Given the description of an element on the screen output the (x, y) to click on. 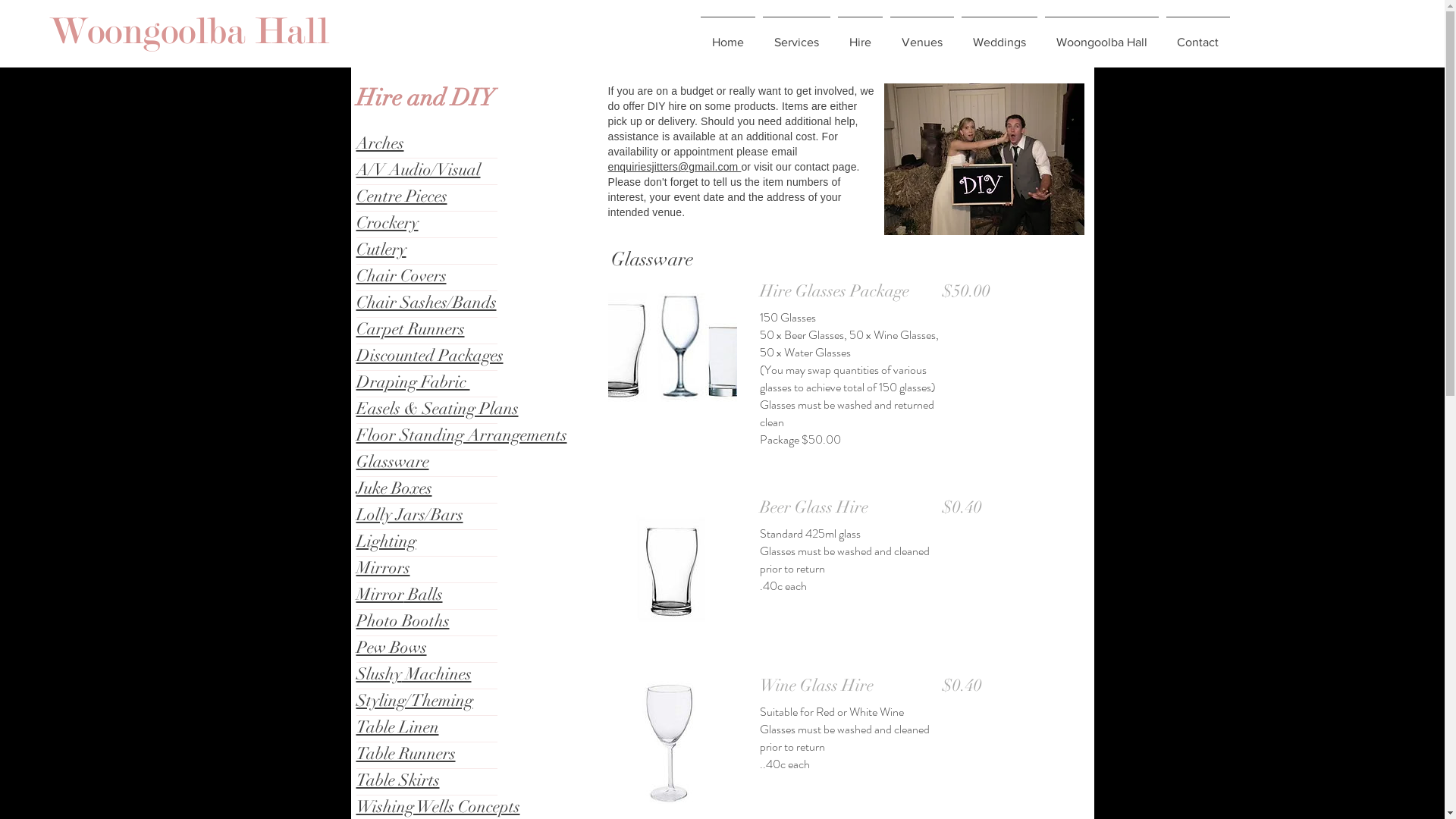
Mirrors Element type: text (383, 567)
Woongoolba Hall Element type: text (189, 31)
Site Search Element type: hover (554, 34)
Pew Bows Element type: text (391, 647)
Styling/Theming Element type: text (414, 700)
Lolly Jars/Bars Element type: text (409, 514)
Arches Element type: text (380, 142)
Wine Glass_edited_edited.jpg Element type: hover (672, 738)
Juke Boxes Element type: text (394, 487)
Chair Covers Element type: text (401, 275)
Glassware Element type: text (392, 461)
Centre Pieces Element type: text (401, 195)
Weddings Element type: text (998, 35)
Beer Glass.jpg Element type: hover (672, 560)
Photo Booths Element type: text (402, 620)
Table Runners Element type: text (405, 753)
Easels & Seating Plans Element type: text (437, 408)
Crockery Element type: text (387, 222)
Table Linen Element type: text (397, 726)
Mirror Balls Element type: text (399, 593)
Woongoolba Hall Element type: text (1100, 35)
Wishing Wells Concepts Element type: text (438, 806)
A/V Audio/Visual Element type: text (418, 169)
Contact Element type: text (1197, 35)
Floor Standing Arrangements Element type: text (461, 434)
Glass Package.jpg Element type: hover (672, 344)
Table Skirts Element type: text (397, 779)
Carpet Runners Element type: text (410, 328)
Venues Element type: text (921, 35)
Hire Element type: text (860, 35)
Slushy Machines Element type: text (413, 673)
Cutlery Element type: text (381, 248)
enquiriesjitters@gmail.com  Element type: text (674, 166)
Home Element type: text (727, 35)
Draping Fabric  Element type: text (413, 381)
Discounted Packages Element type: text (429, 355)
Chair Sashes/Bands Element type: text (426, 301)
Lighting Element type: text (386, 540)
Services Element type: text (795, 35)
